Given the description of an element on the screen output the (x, y) to click on. 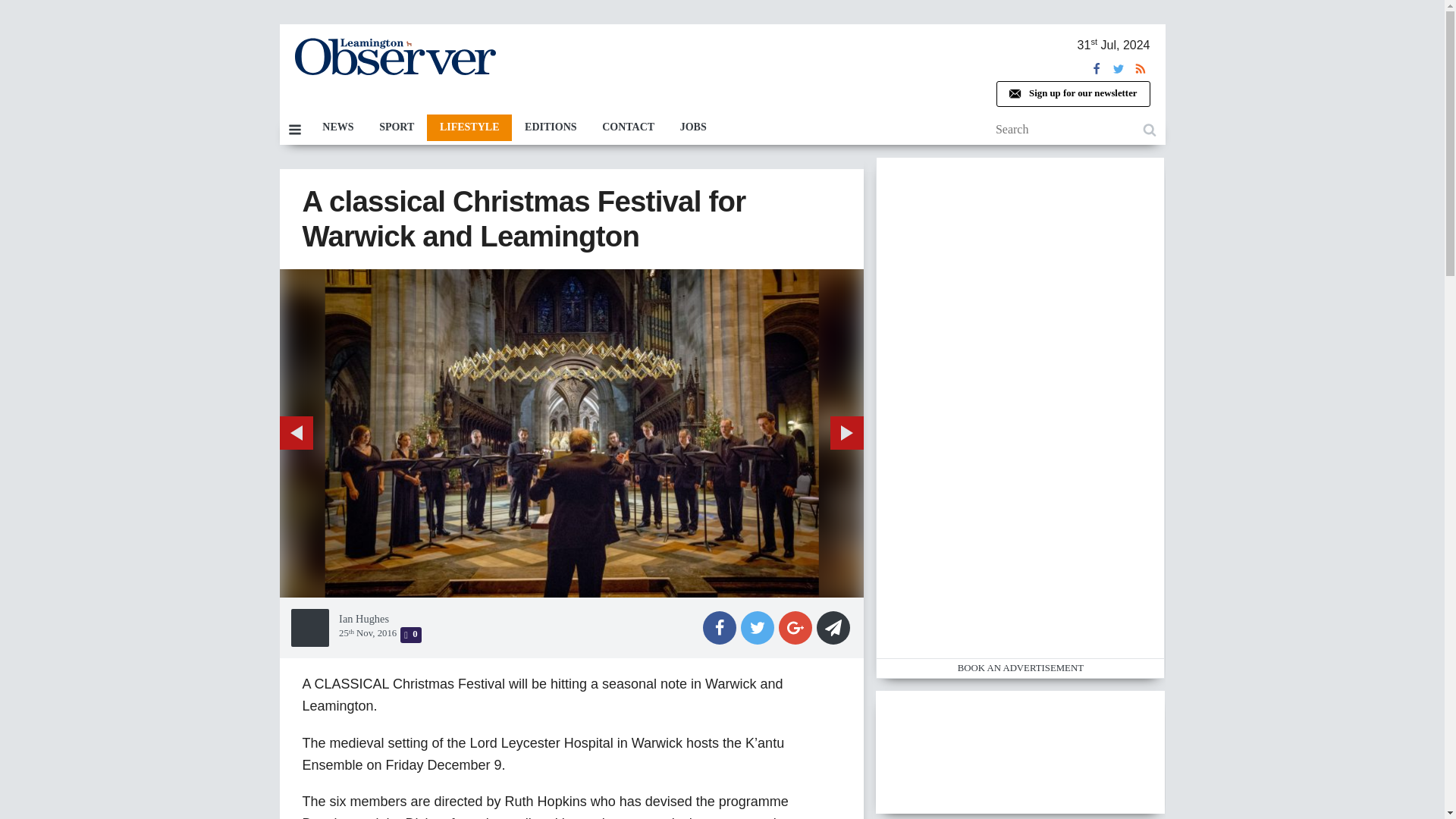
EDITIONS (556, 127)
The Leamington Observer (399, 55)
JOBS (698, 127)
Ian Hughes (369, 277)
  Sign up for our newsletter (1079, 94)
LIFESTYLE (475, 127)
CONTACT (633, 127)
SPORT (402, 127)
NEWS (343, 127)
